Given the description of an element on the screen output the (x, y) to click on. 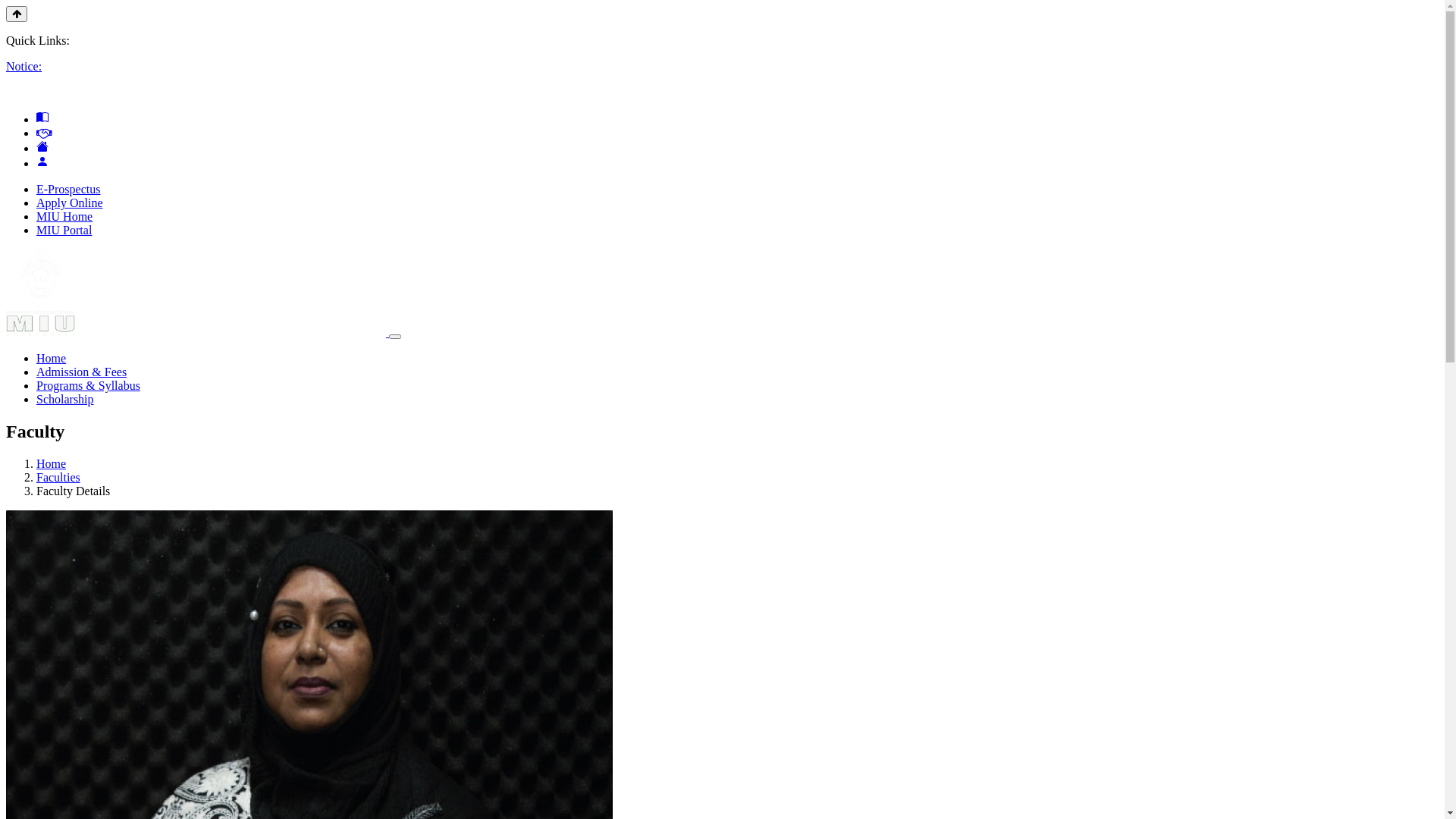
E-Prospectus Element type: text (68, 188)
Home Element type: text (50, 463)
Home Element type: text (50, 357)
Programs & Syllabus Element type: text (88, 385)
Faculties Element type: text (58, 476)
Apply Online Element type: text (69, 202)
Scholarship Element type: text (65, 398)
MIU Home Element type: text (64, 216)
Admission & Fees Element type: text (81, 371)
Go to top Element type: hover (16, 13)
Notice: Element type: text (23, 65)
MIU Portal Element type: text (63, 229)
